Given the description of an element on the screen output the (x, y) to click on. 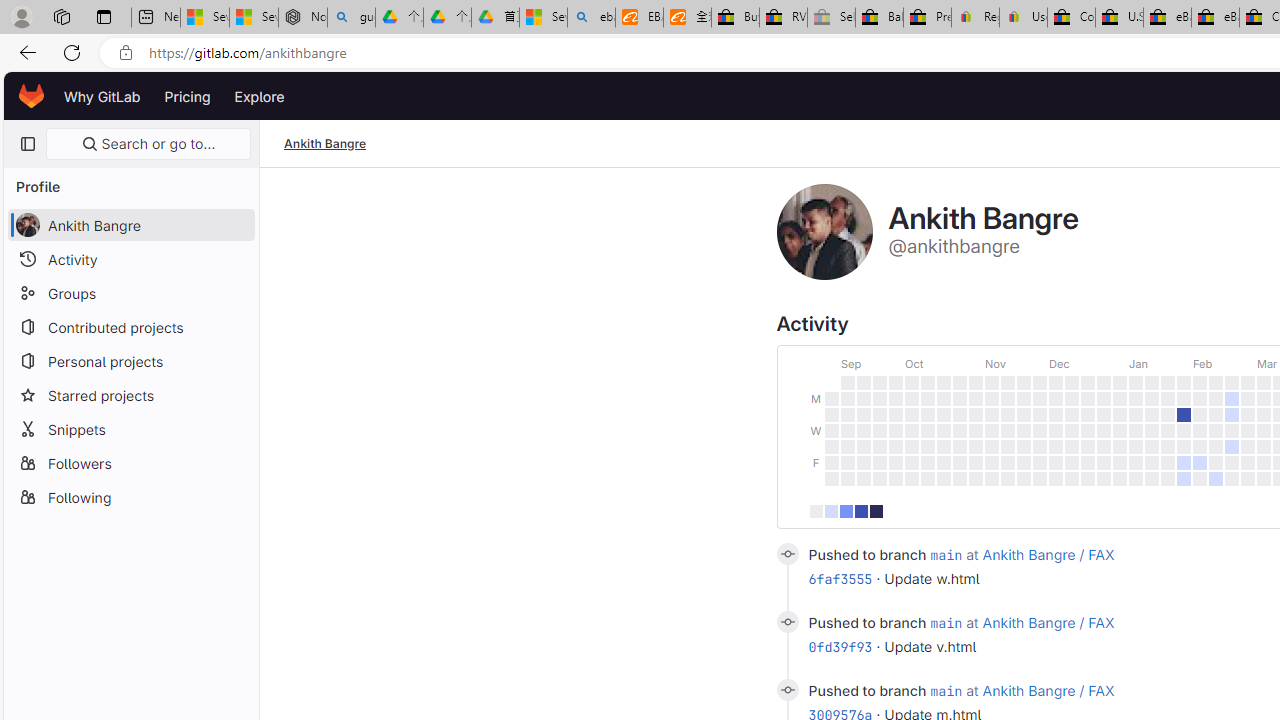
eBay Inc. Reports Third Quarter 2023 Results (1215, 17)
